Given the description of an element on the screen output the (x, y) to click on. 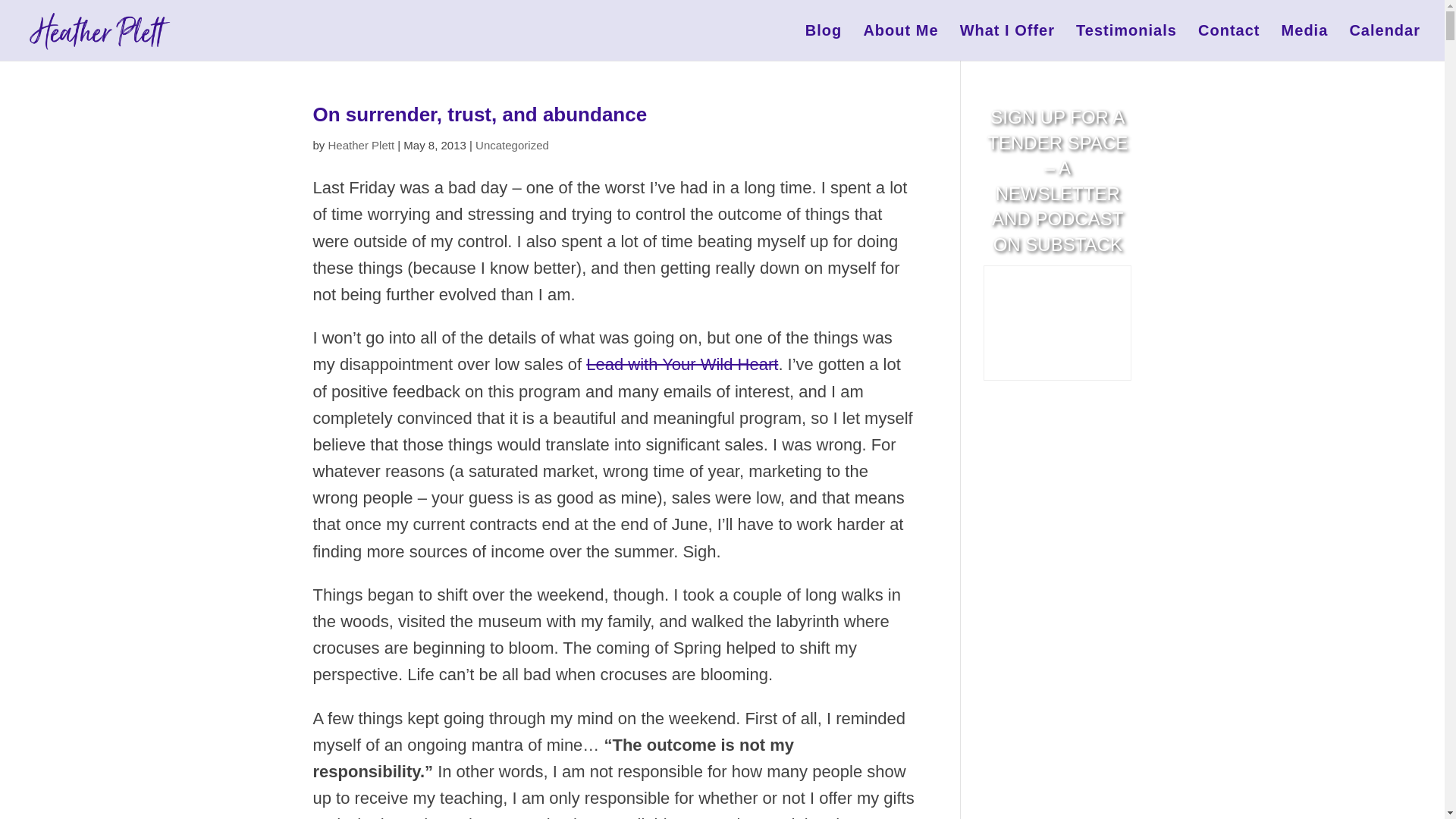
Lead with Your Wild Heart (681, 363)
Heather Plett (361, 144)
On surrender, trust, and abundance (479, 114)
Posts by Heather Plett (361, 144)
Uncategorized (512, 144)
What I Offer (1006, 42)
Calendar (1385, 42)
Testimonials (1125, 42)
About Me (900, 42)
Media (1304, 42)
Blog (823, 42)
Contact (1228, 42)
